Given the description of an element on the screen output the (x, y) to click on. 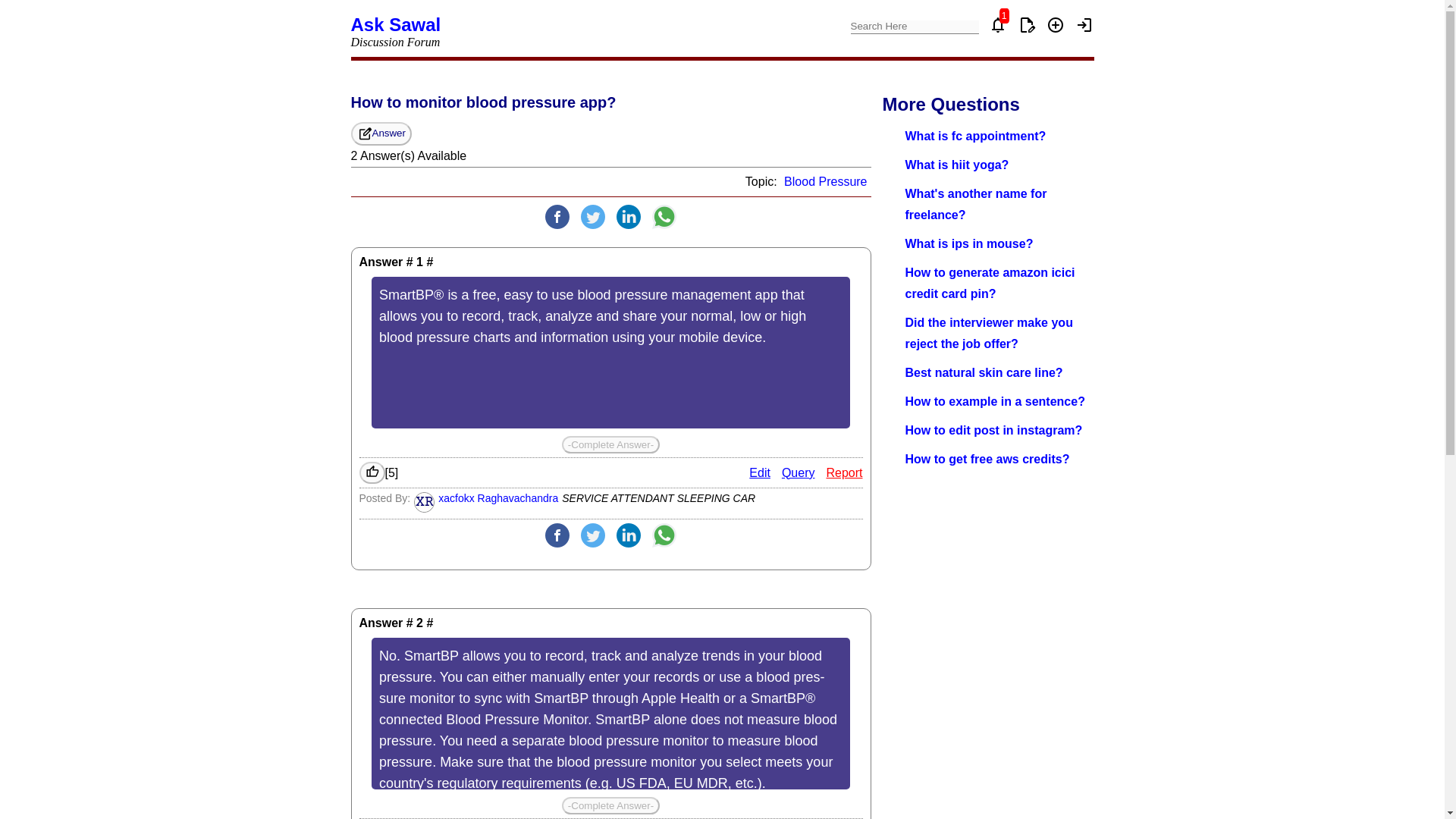
What's another name for freelance? (975, 204)
Answer (380, 133)
What is hiit yoga? (957, 164)
Ask Sawal (395, 24)
What is fc appointment? (975, 135)
Blood Pressure (825, 181)
xacfokx Raghavachandra (497, 498)
Did the interviewer make you reject the job offer? (989, 333)
-Complete Answer- (610, 444)
What is ips in mouse? (969, 243)
Best natural skin care line? (983, 372)
-Complete Answer- (610, 805)
Answer (380, 132)
How to generate amazon icici credit card pin? (990, 283)
